Given the description of an element on the screen output the (x, y) to click on. 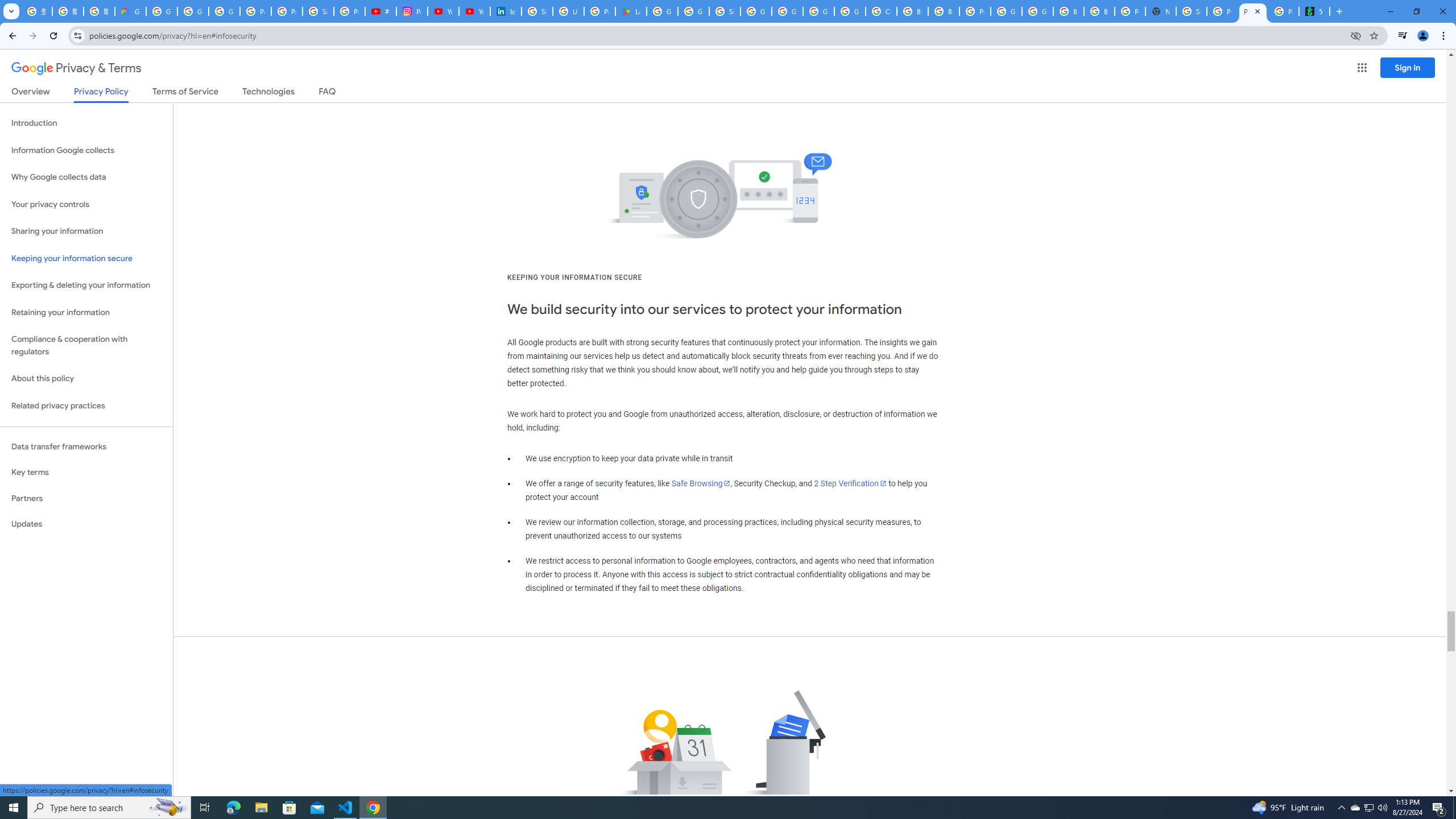
Sign in - Google Accounts (536, 11)
Google Cloud Platform (818, 11)
2 Step Verification (849, 483)
Related privacy practices (86, 405)
Last Shelter: Survival - Apps on Google Play (631, 11)
